Given the description of an element on the screen output the (x, y) to click on. 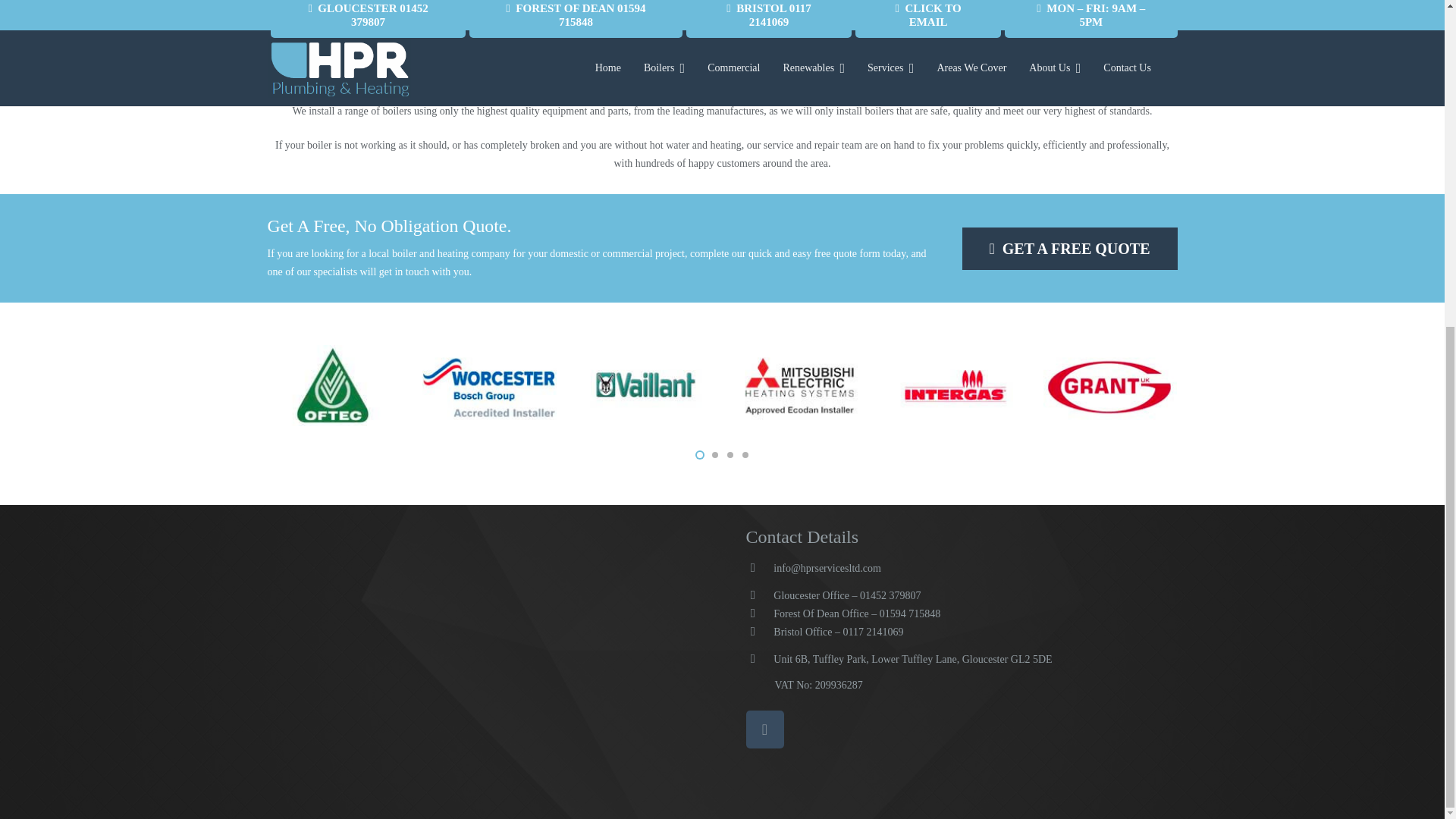
Boiler Installation Tewkesbury (408, 11)
MORE INFORMATION (721, 11)
Boiler Repair Tewkesbury (721, 11)
MORE INFORMATION (1035, 10)
GET A FREE QUOTE (1068, 248)
Boiler Servicing Tewkesbury (1035, 11)
Facebook (764, 729)
MORE INFORMATION (408, 11)
